Given the description of an element on the screen output the (x, y) to click on. 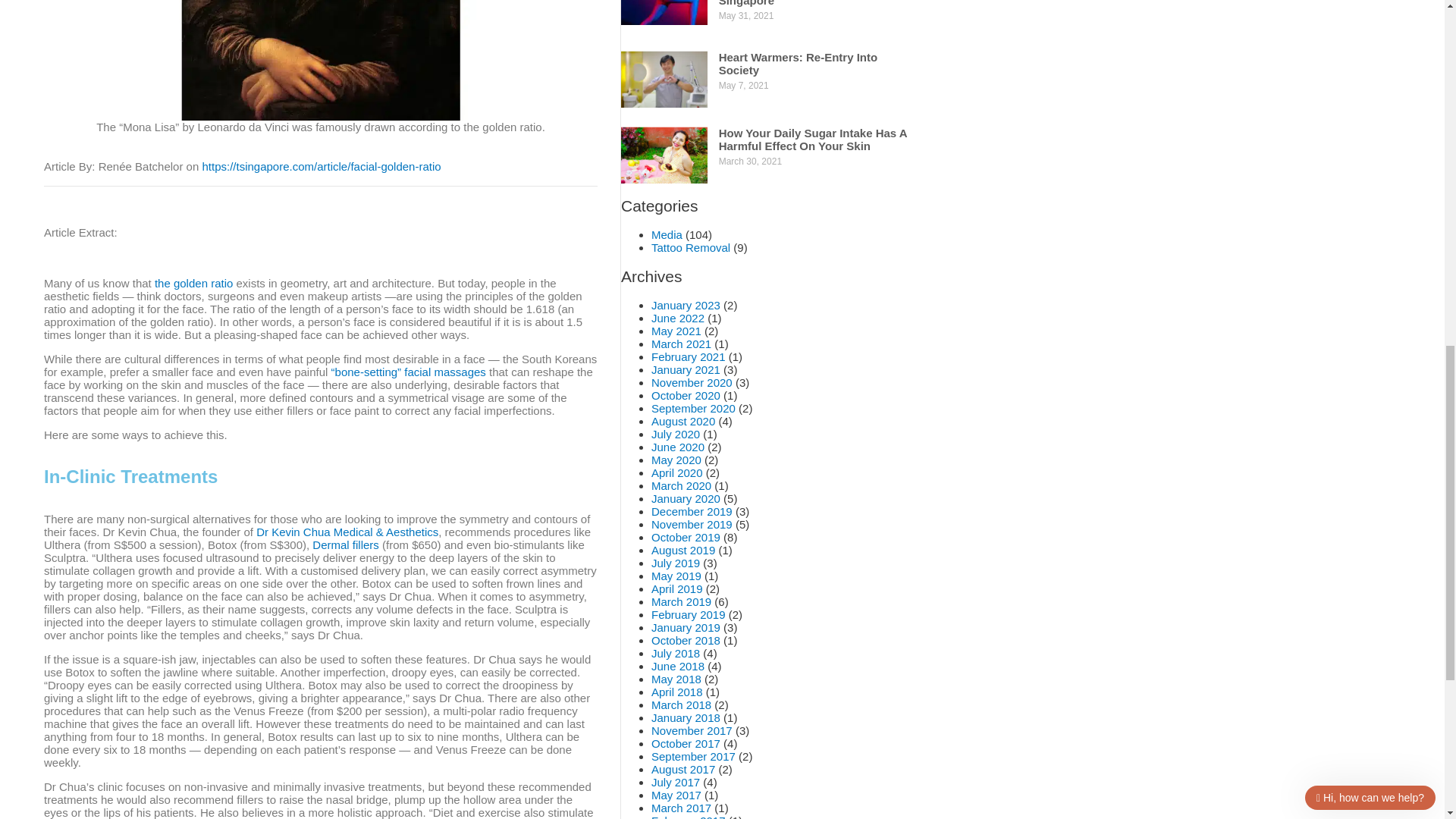
the golden ratio (193, 282)
